Given the description of an element on the screen output the (x, y) to click on. 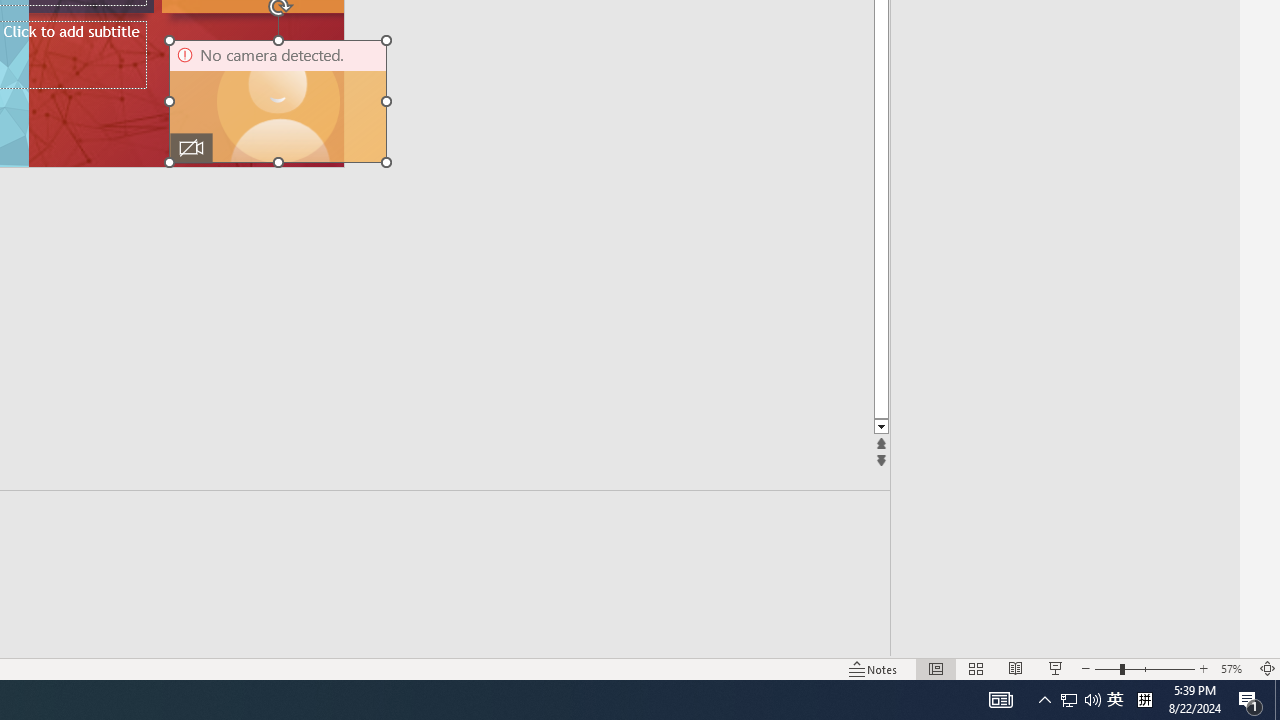
Camera 14, No camera detected. (278, 101)
Action Center, 1 new notification (1250, 699)
Zoom 57% (1234, 668)
Camera 11, No camera detected. (278, 101)
